Given the description of an element on the screen output the (x, y) to click on. 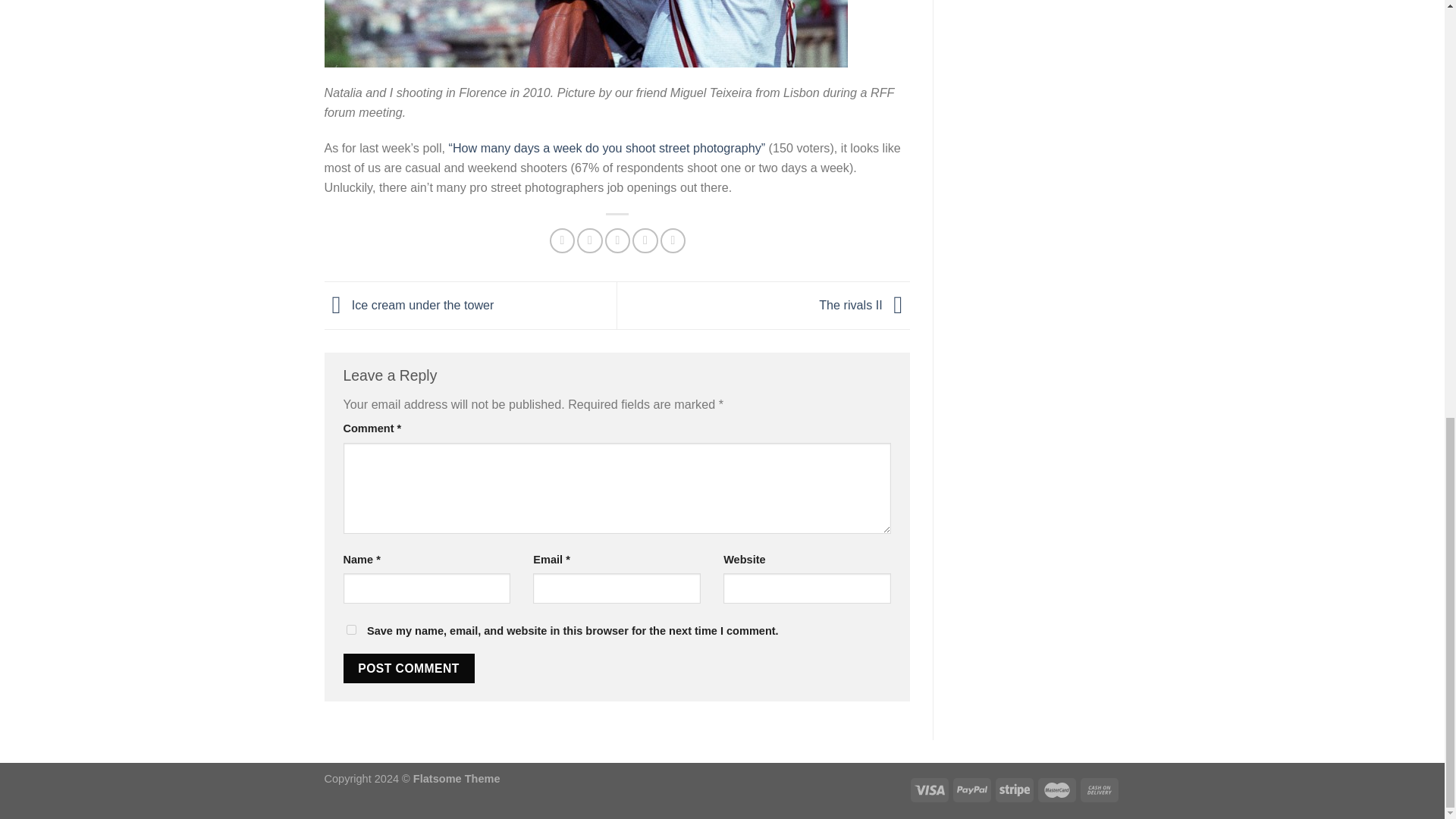
Email to a Friend (617, 240)
Post Comment (408, 668)
Post Comment (408, 668)
Pin on Pinterest (644, 240)
Share on LinkedIn (673, 240)
yes (350, 629)
Ice cream under the tower (409, 304)
Share on Facebook (562, 240)
The rivals II (864, 304)
Share on Twitter (589, 240)
